Given the description of an element on the screen output the (x, y) to click on. 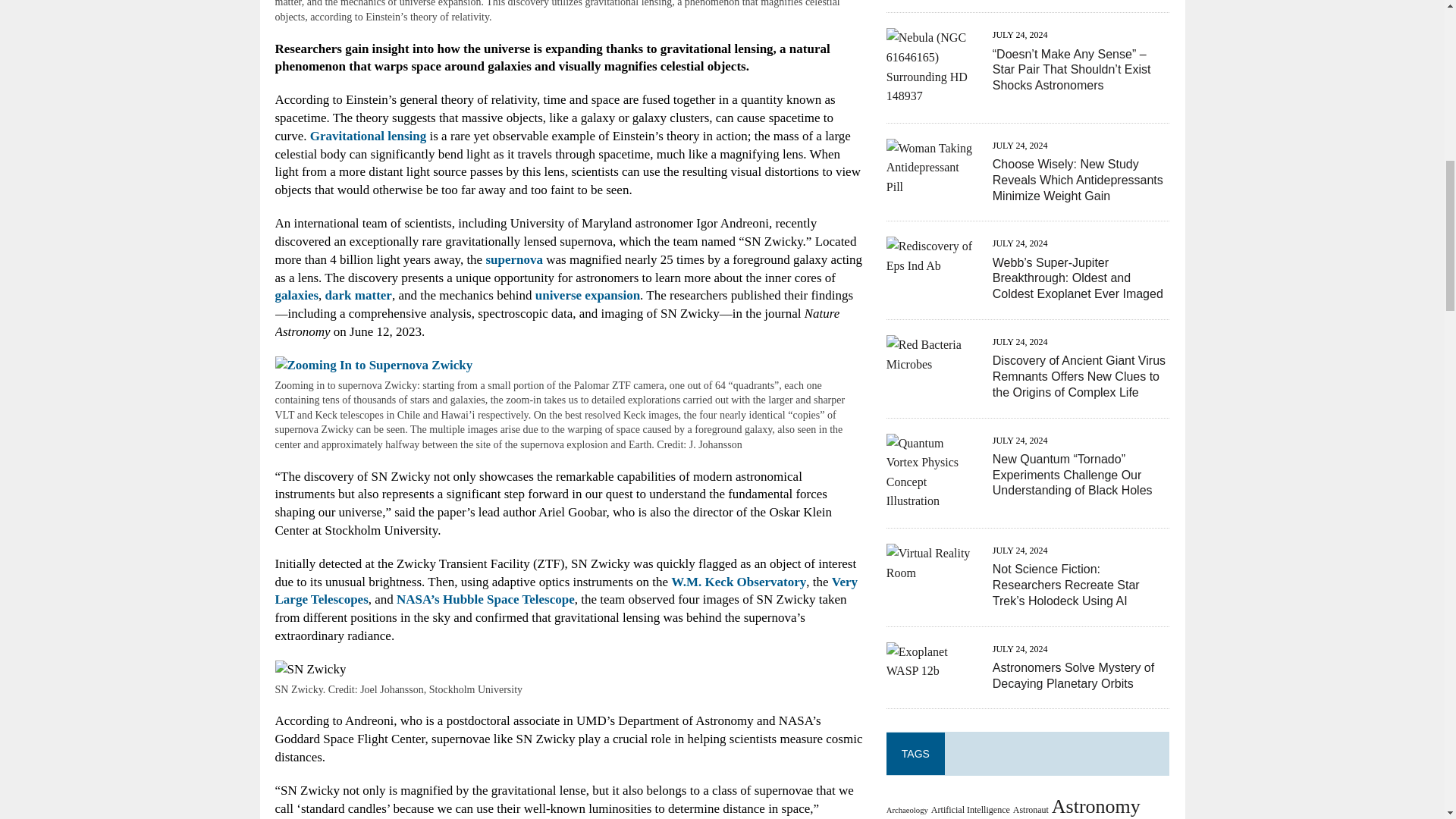
Gravitational lensing (368, 135)
supernova (513, 259)
dark matter (357, 295)
galaxies (296, 295)
universe expansion (587, 295)
